Given the description of an element on the screen output the (x, y) to click on. 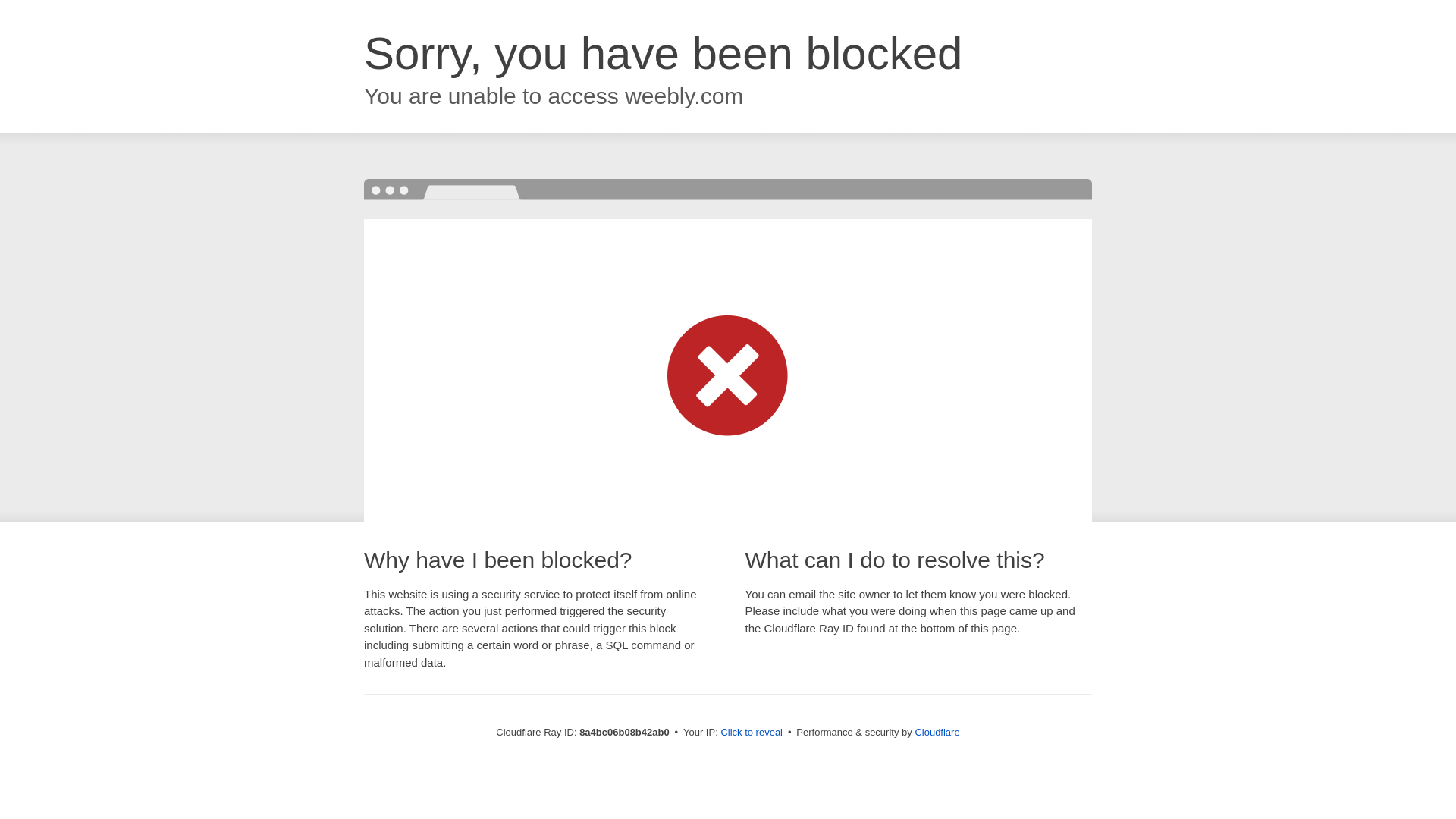
Click to reveal (751, 732)
Cloudflare (936, 731)
